Given the description of an element on the screen output the (x, y) to click on. 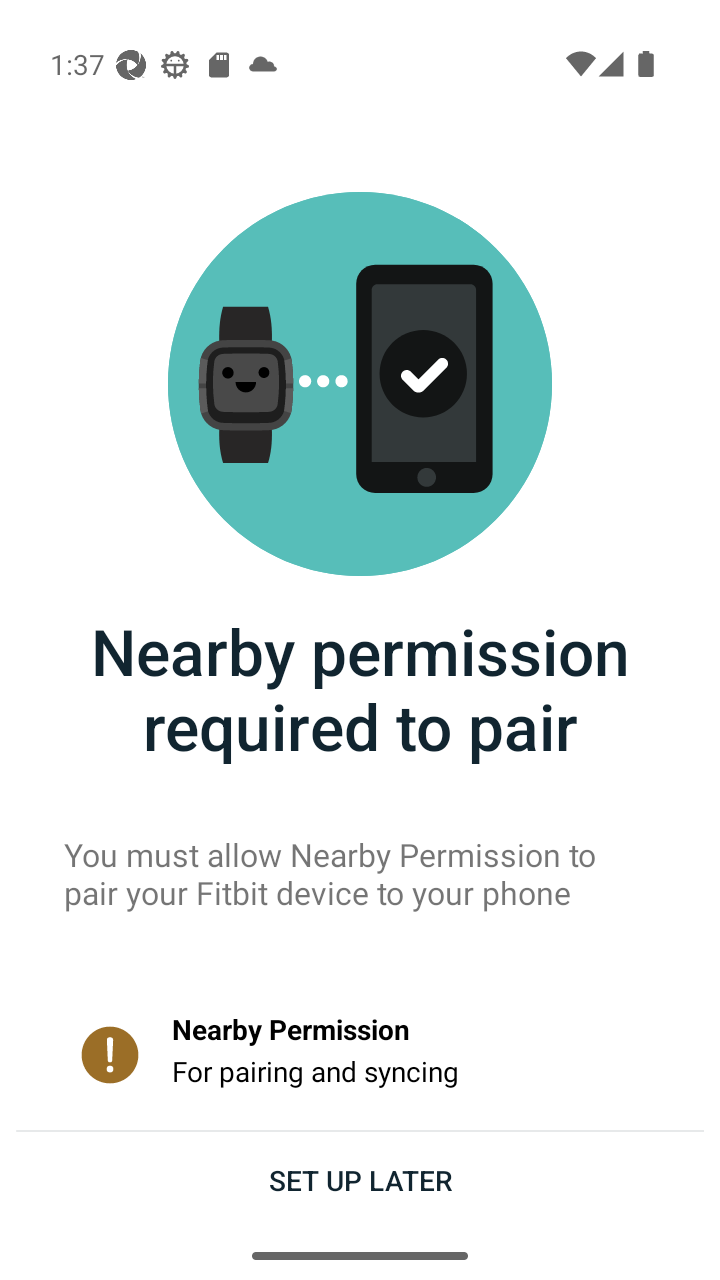
Nearby Permission For pairing and syncing (359, 1054)
SET UP LATER (359, 1179)
